Given the description of an element on the screen output the (x, y) to click on. 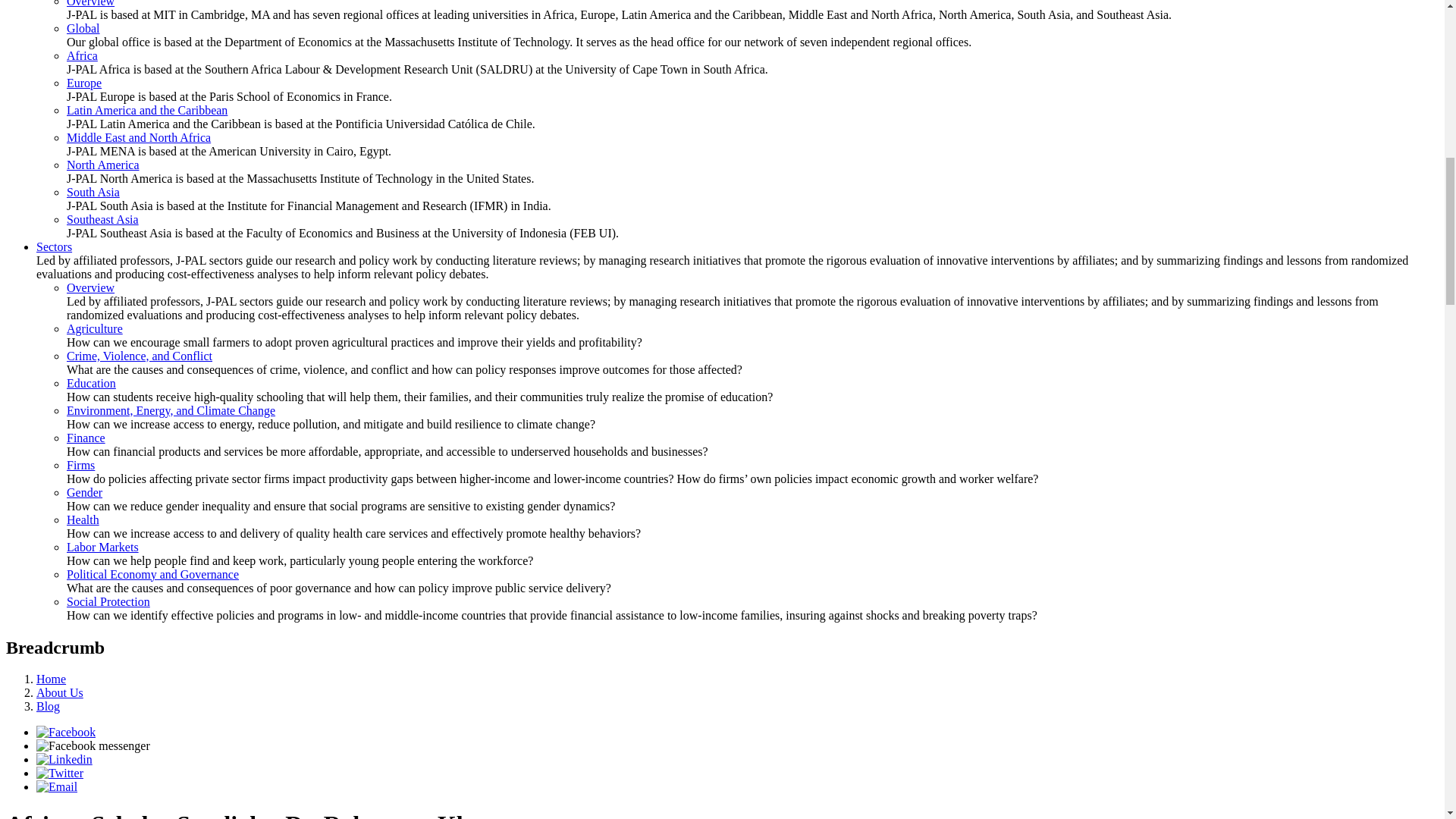
Facebook (66, 731)
Email (56, 786)
Linkedin (64, 758)
Twitter (59, 772)
Facebook messenger (92, 745)
